Given the description of an element on the screen output the (x, y) to click on. 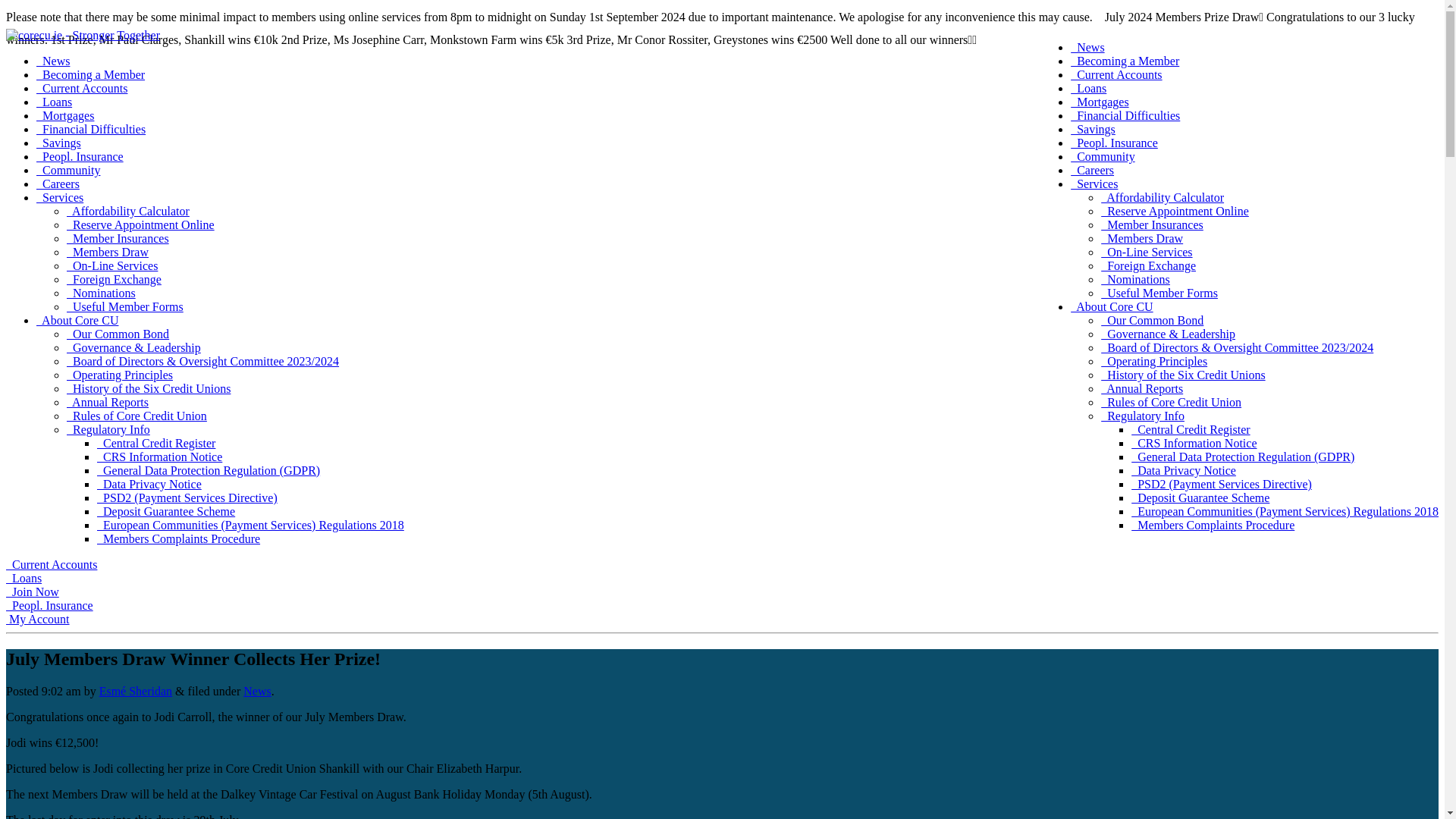
corecu.ie - Stronger Together (82, 34)
  Foreign Exchange (1147, 265)
  Peopl. Insurance (1113, 142)
  Members Draw (1141, 237)
  Savings (1092, 128)
  Our Common Bond (1152, 319)
  Current Accounts (1115, 74)
  Rules of Core Credit Union (1170, 401)
  Data Privacy Notice (1183, 470)
  Nominations (1135, 278)
